Given the description of an element on the screen output the (x, y) to click on. 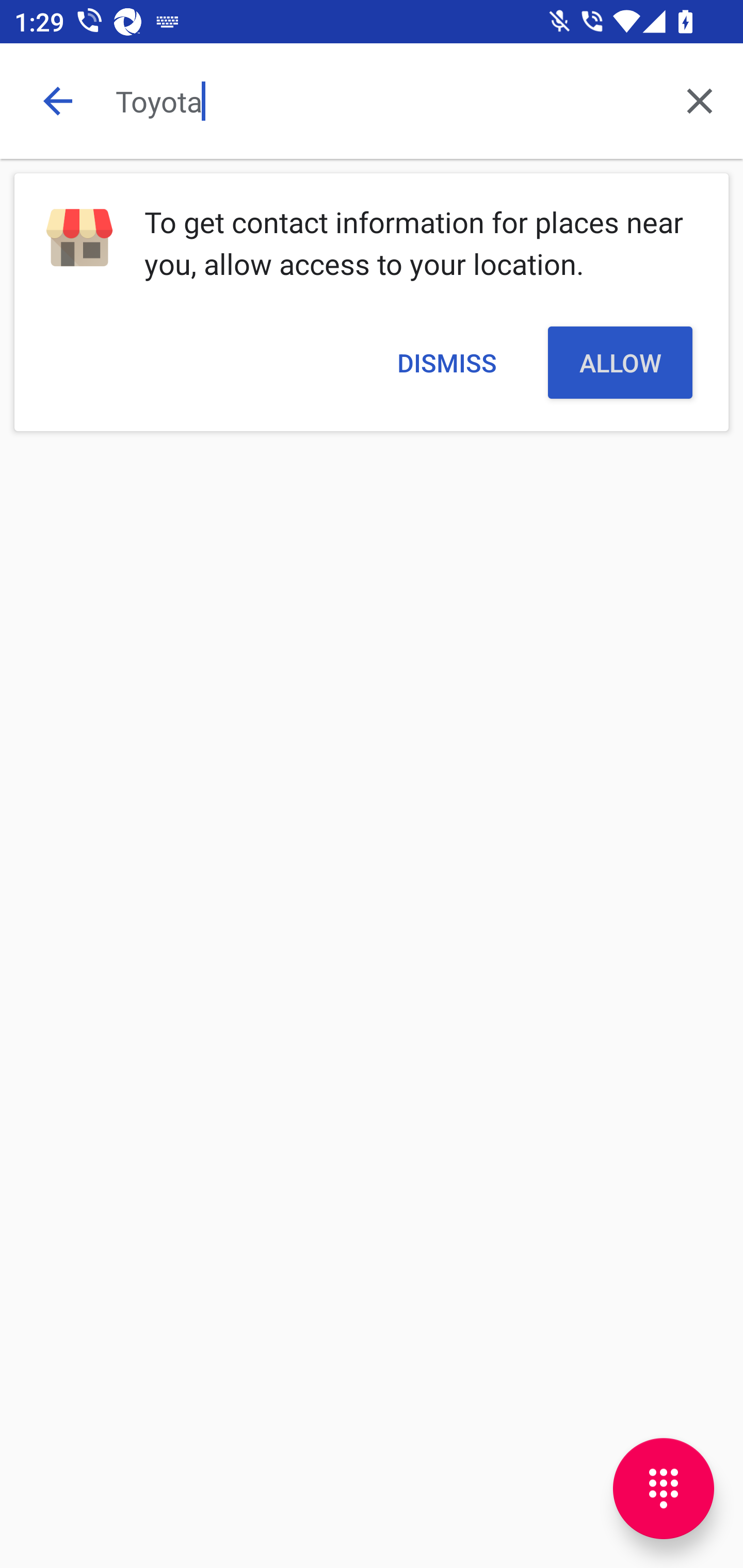
stop searching (57, 101)
Toyota (385, 101)
Clear search (699, 101)
DISMISS (446, 362)
ALLOW (619, 362)
key pad (663, 1488)
